Given the description of an element on the screen output the (x, y) to click on. 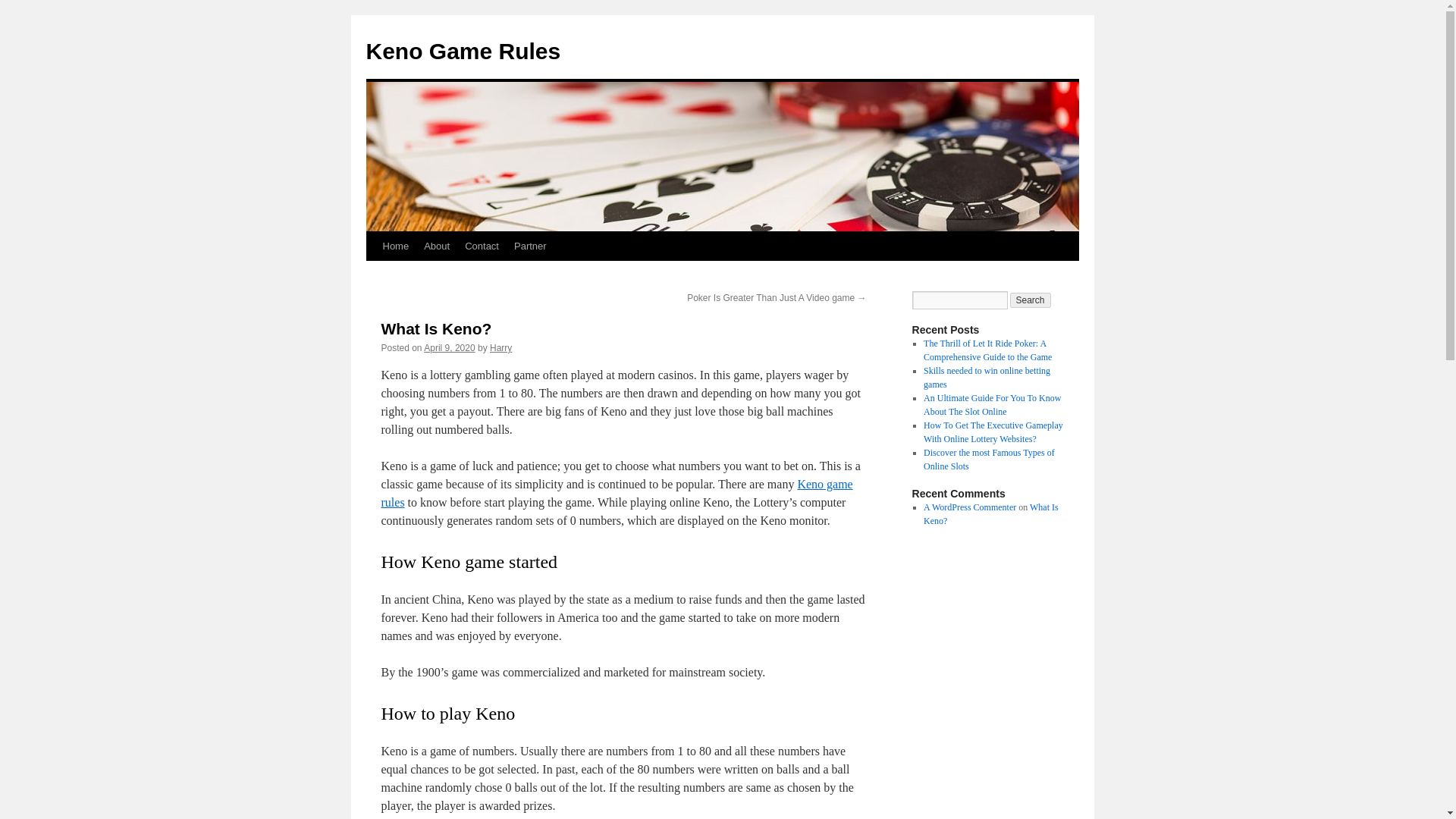
A WordPress Commenter (969, 507)
Search (1030, 299)
Discover the most Famous Types of Online Slots (988, 459)
April 9, 2020 (448, 347)
An Ultimate Guide For You To Know About The Slot Online (992, 404)
What Is Keno? (990, 514)
12:16 pm (448, 347)
View all posts by Harry (500, 347)
Keno Game Rules (462, 50)
Keno game rules (615, 492)
Partner (530, 246)
About (436, 246)
Contact (481, 246)
